Given the description of an element on the screen output the (x, y) to click on. 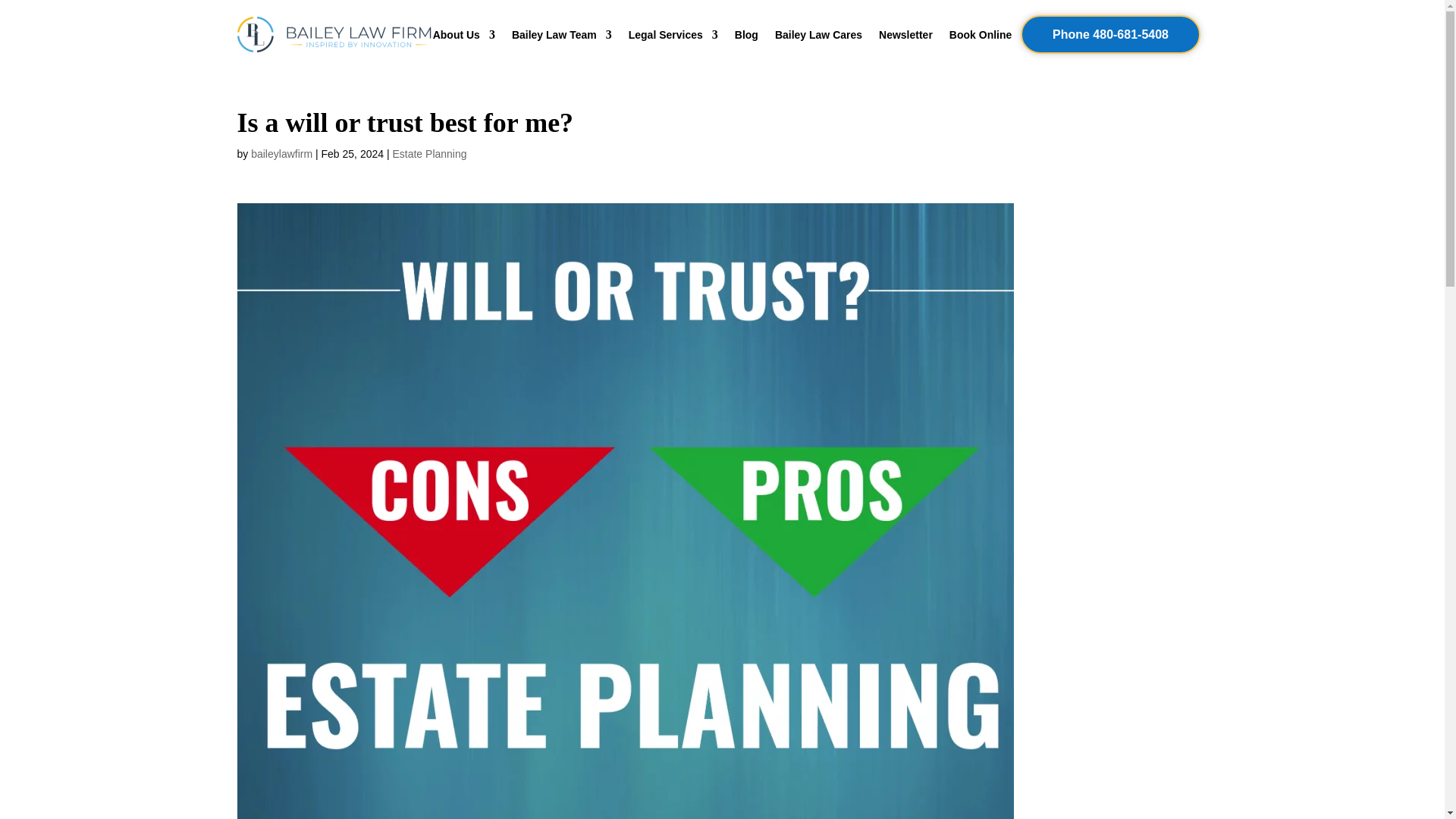
Newsletter (906, 37)
baileylawfirm (281, 153)
About Us (463, 37)
Main-logo (332, 34)
Legal Services (672, 37)
Phone 480-681-5408 (1109, 34)
Estate Planning (428, 153)
Bailey Law Cares (817, 37)
Posts by baileylawfirm (281, 153)
